Given the description of an element on the screen output the (x, y) to click on. 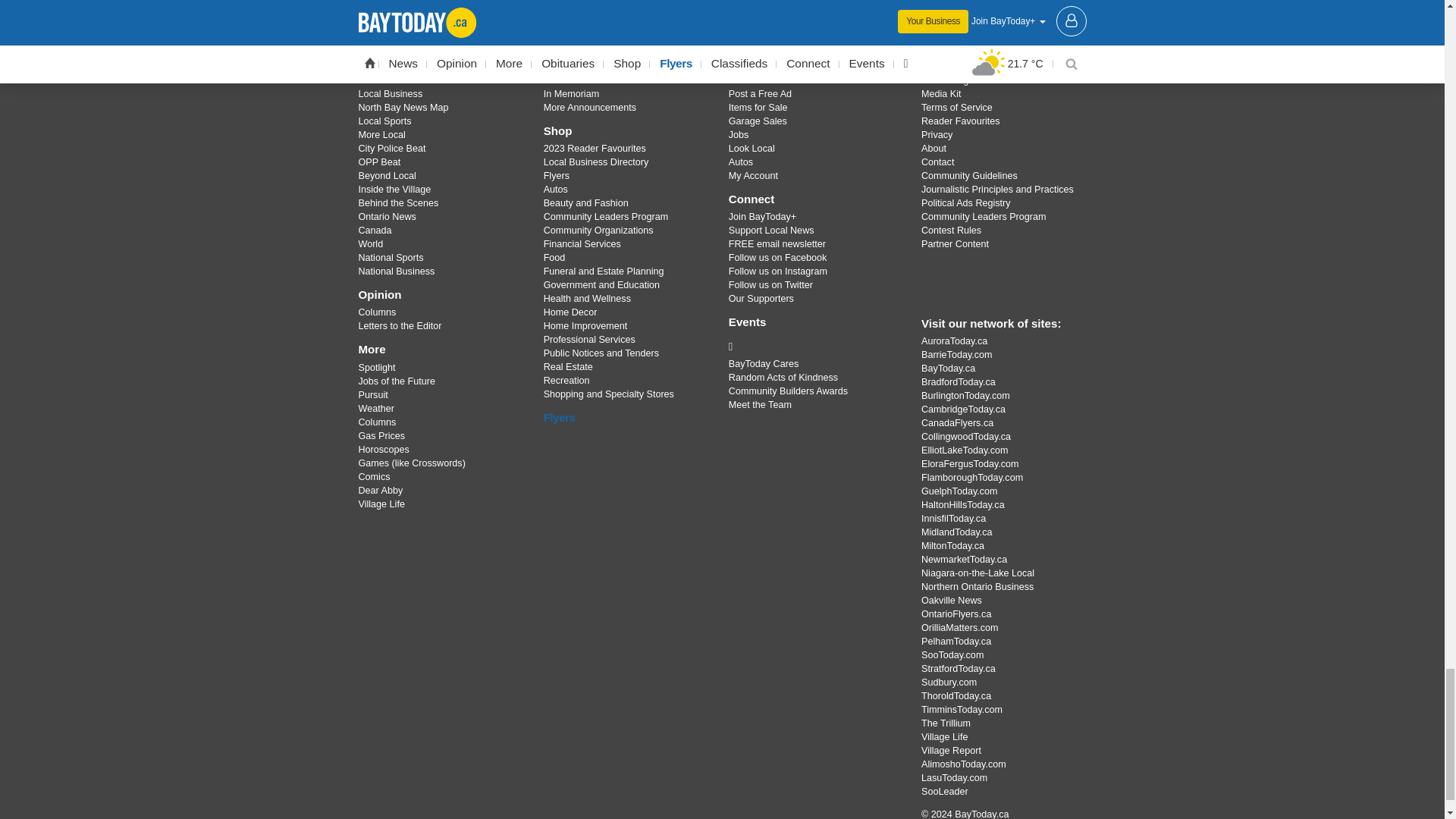
X (721, 9)
BayToday Cares (813, 346)
Instagram (760, 9)
Facebook (683, 9)
